Given the description of an element on the screen output the (x, y) to click on. 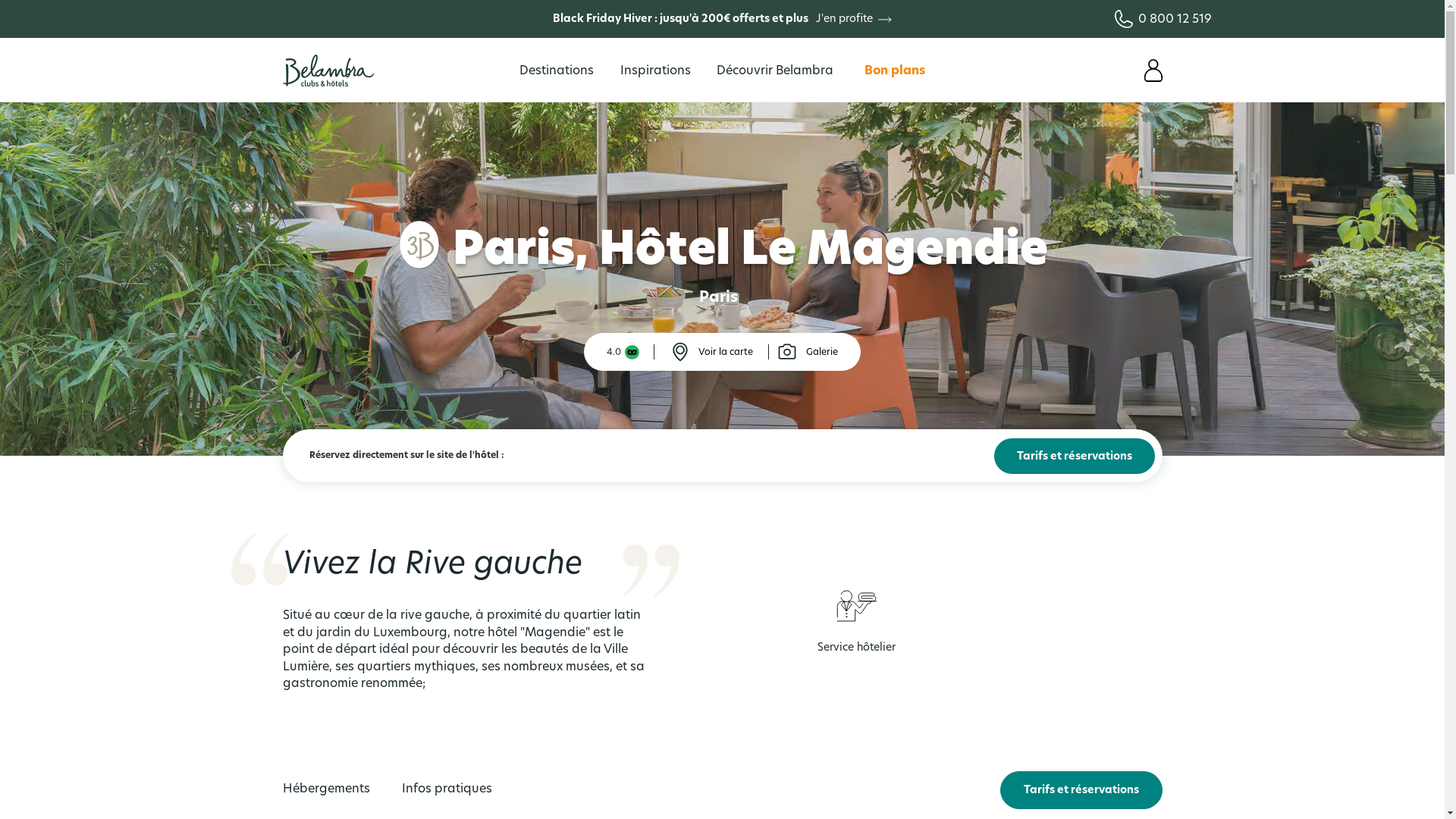
J'en profite Element type: text (850, 18)
0 800 12 519 Element type: text (1154, 19)
Galerie Element type: text (806, 351)
4.0 Element type: text (622, 352)
Belambra Element type: hover (327, 70)
Voir la carte Element type: text (711, 351)
